Given the description of an element on the screen output the (x, y) to click on. 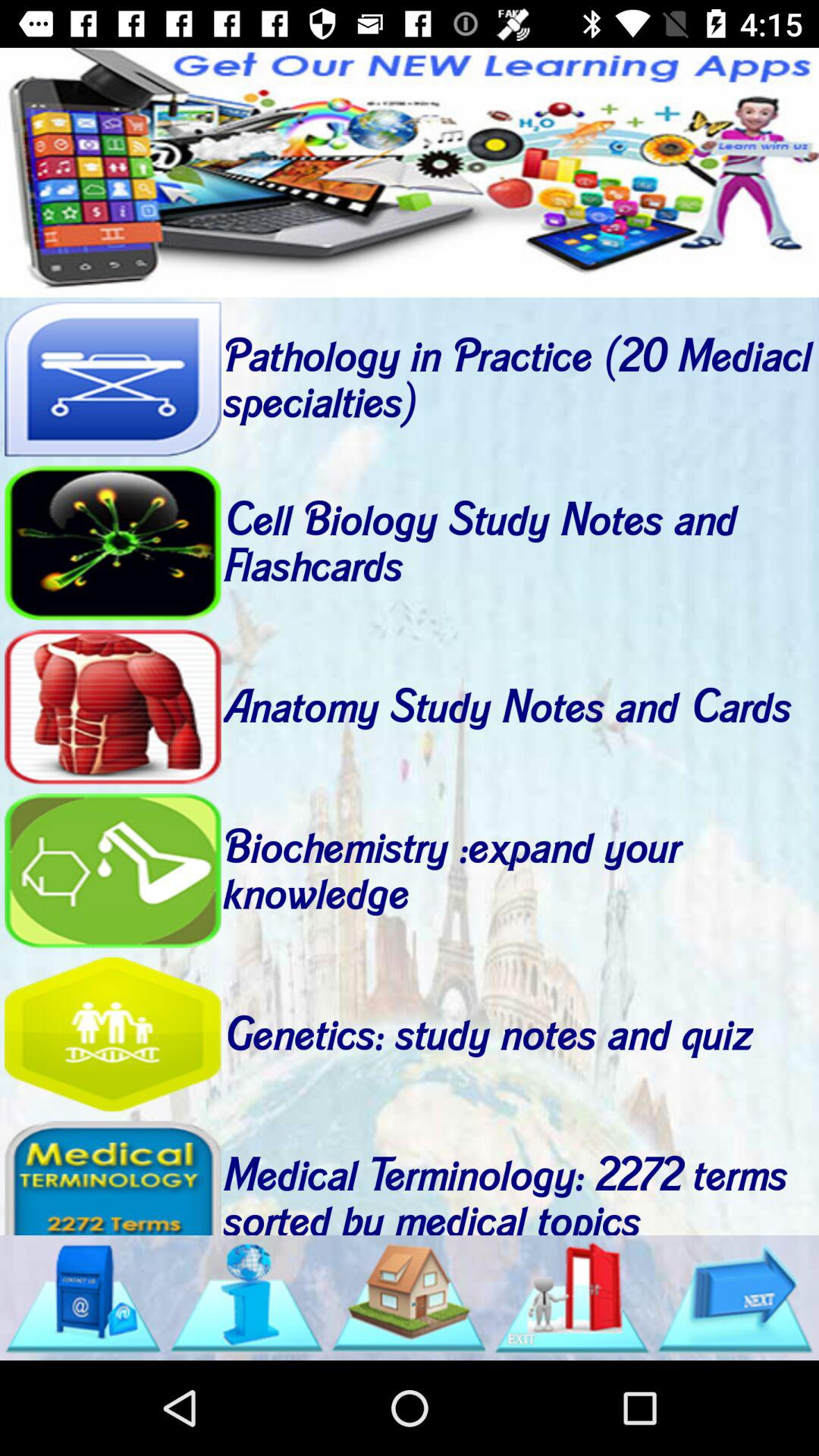
visit the item (112, 1034)
